Given the description of an element on the screen output the (x, y) to click on. 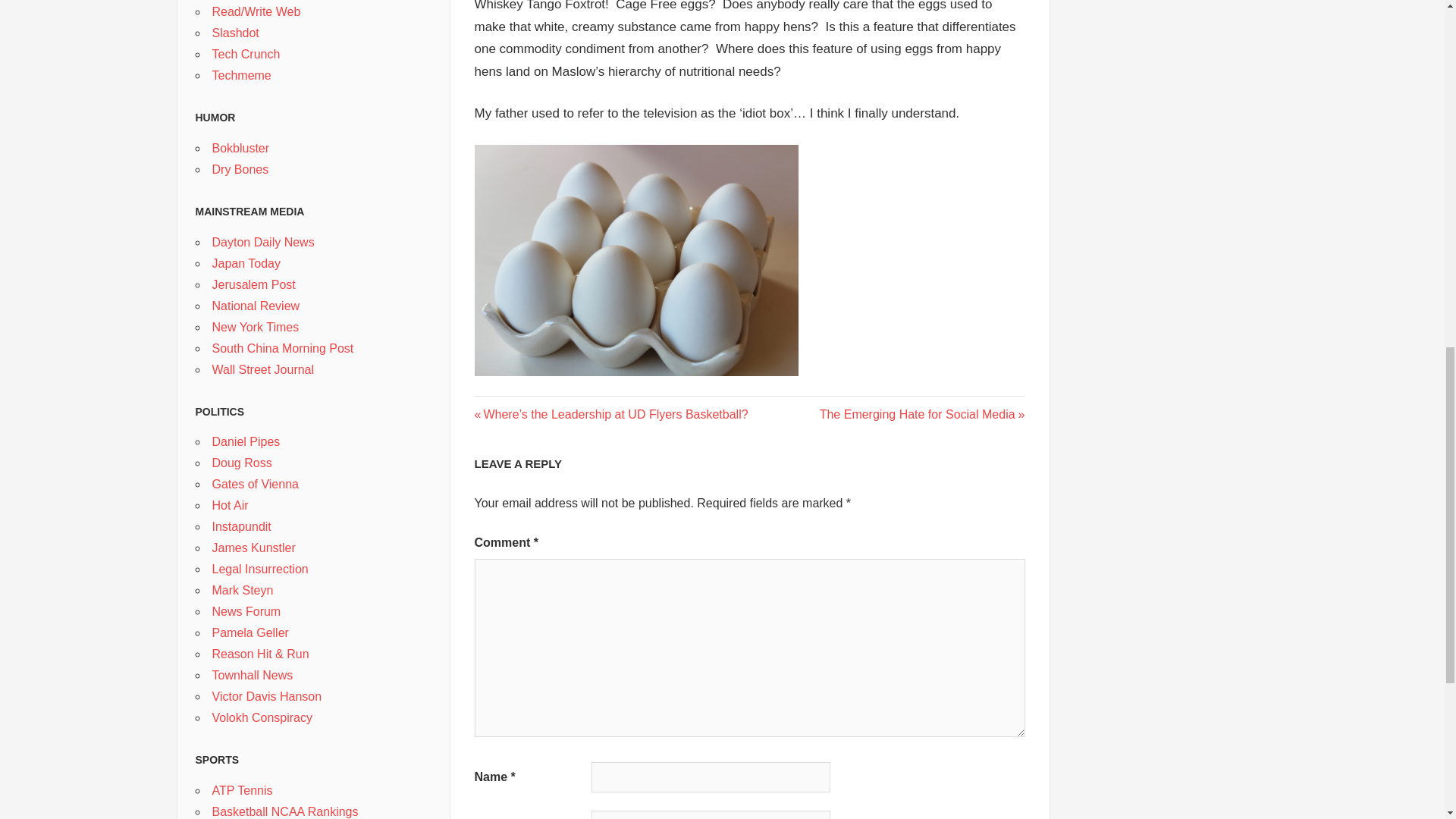
Japan Today (246, 263)
Bokbluster (240, 147)
Techmeme (922, 413)
Slashdot (241, 74)
Dayton Daily News (235, 32)
Dry Bones (263, 241)
Tech Crunch (240, 169)
